Given the description of an element on the screen output the (x, y) to click on. 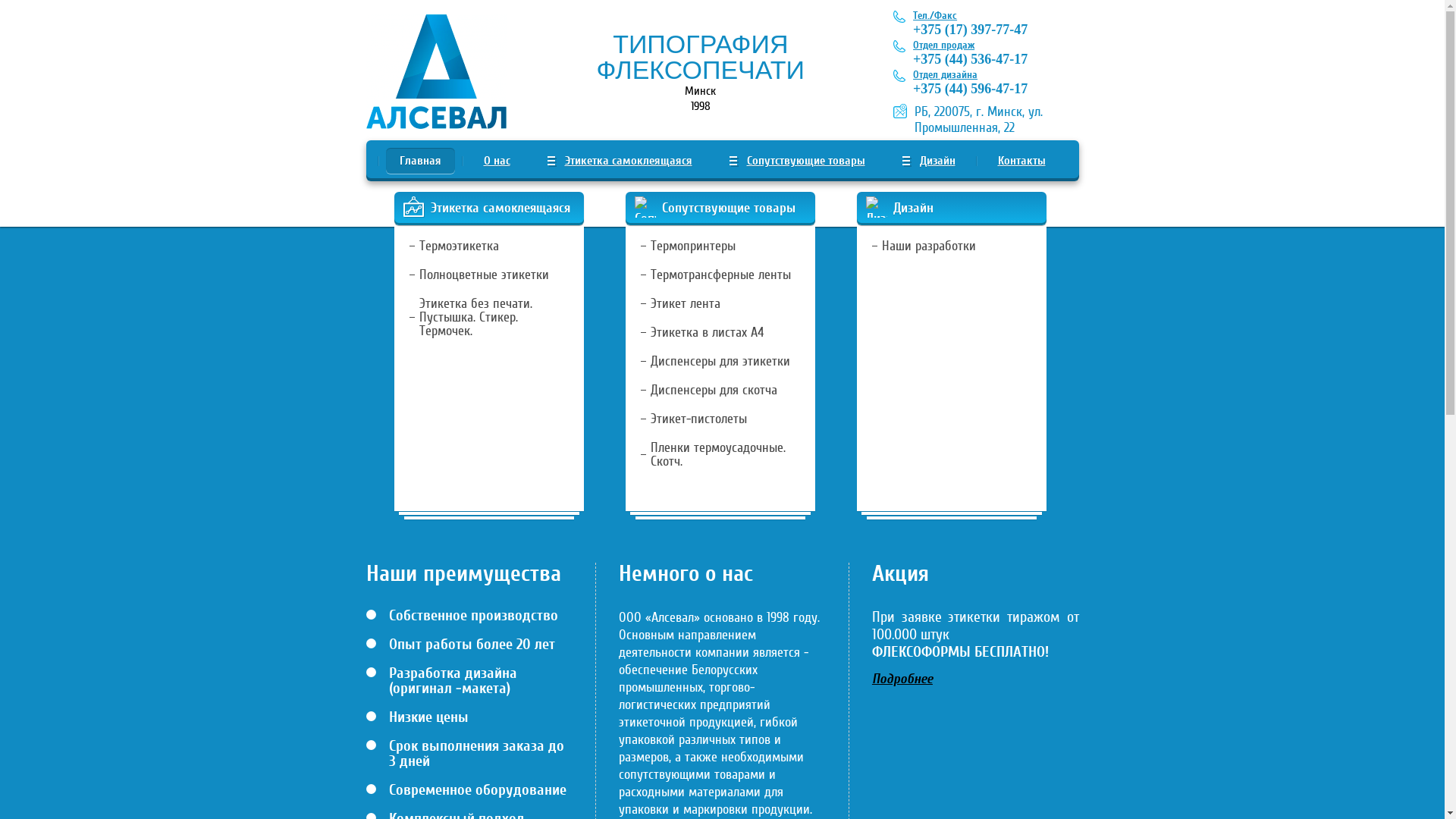
+375 (44) 596-47-17 Element type: text (970, 88)
+375 (44) 536-47-17 Element type: text (970, 58)
+375 (17) 397-77-47 Element type: text (970, 29)
